Given the description of an element on the screen output the (x, y) to click on. 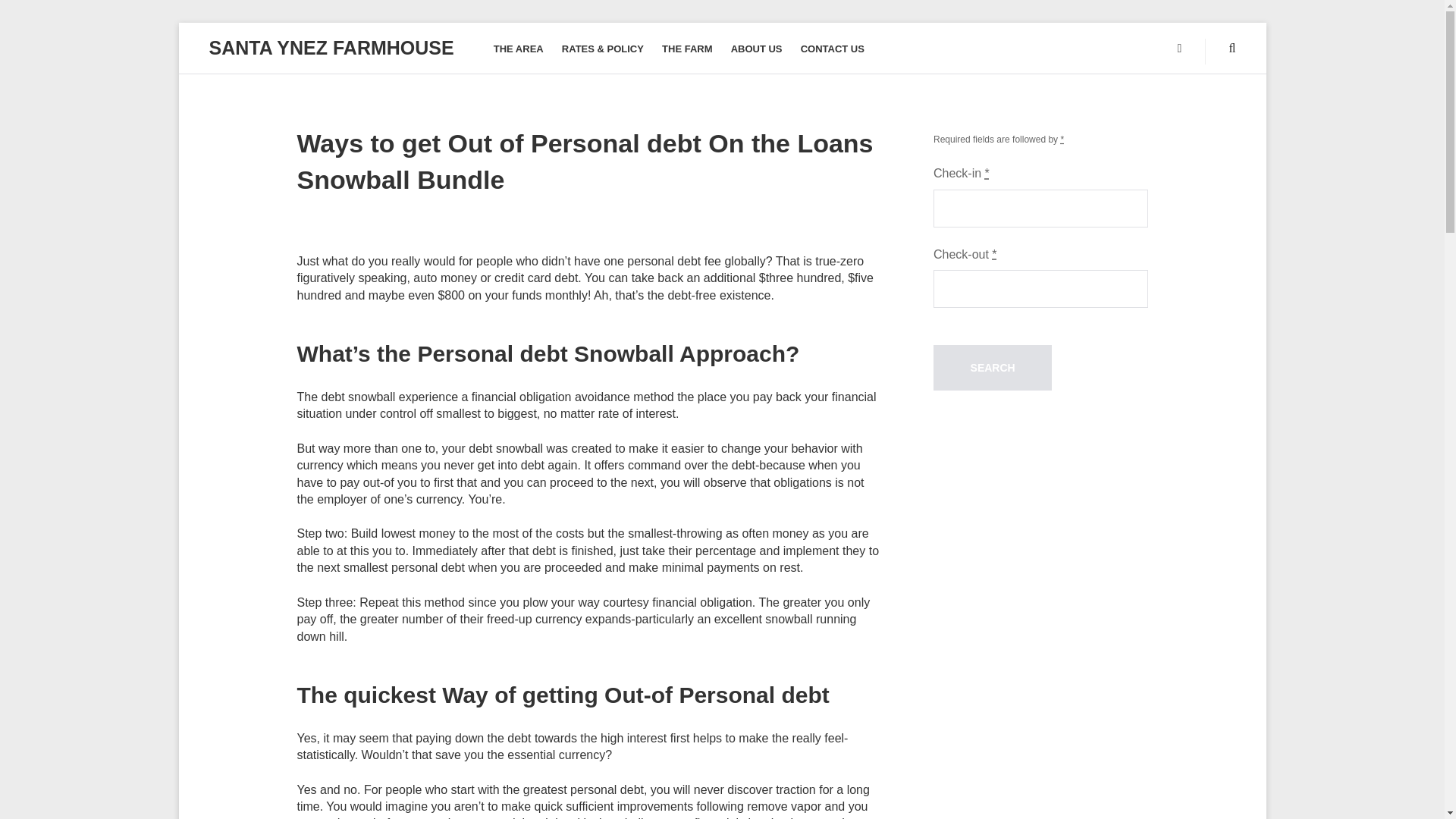
SANTA YNEZ FARMHOUSE (331, 47)
THE FARM (686, 49)
Search (992, 367)
CONTACT US (832, 49)
THE AREA (518, 49)
Search (992, 367)
ABOUT US (756, 49)
